Given the description of an element on the screen output the (x, y) to click on. 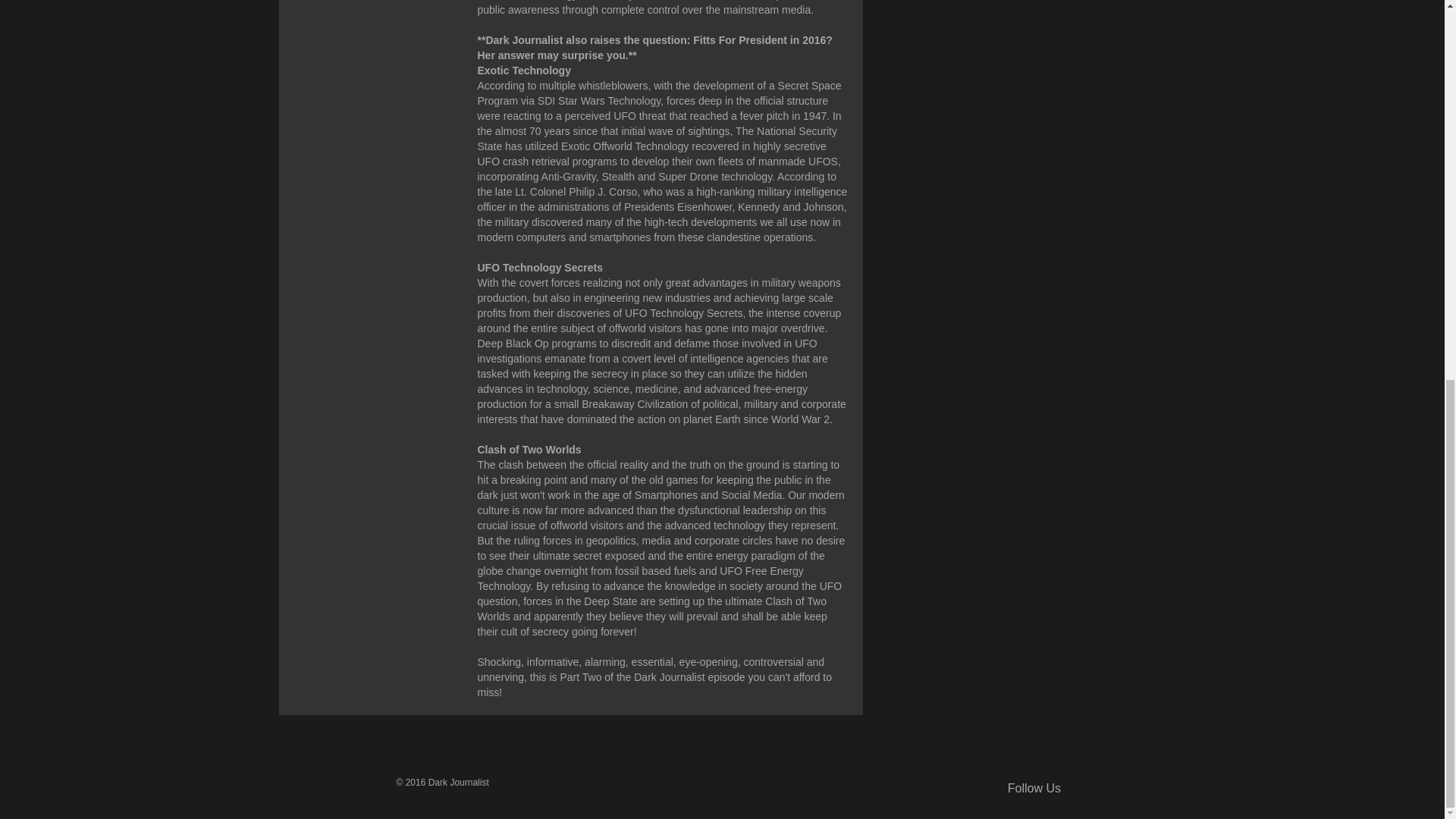
twitter (1132, 790)
facebook (1109, 790)
rss (1085, 790)
youtube (1155, 790)
